Given the description of an element on the screen output the (x, y) to click on. 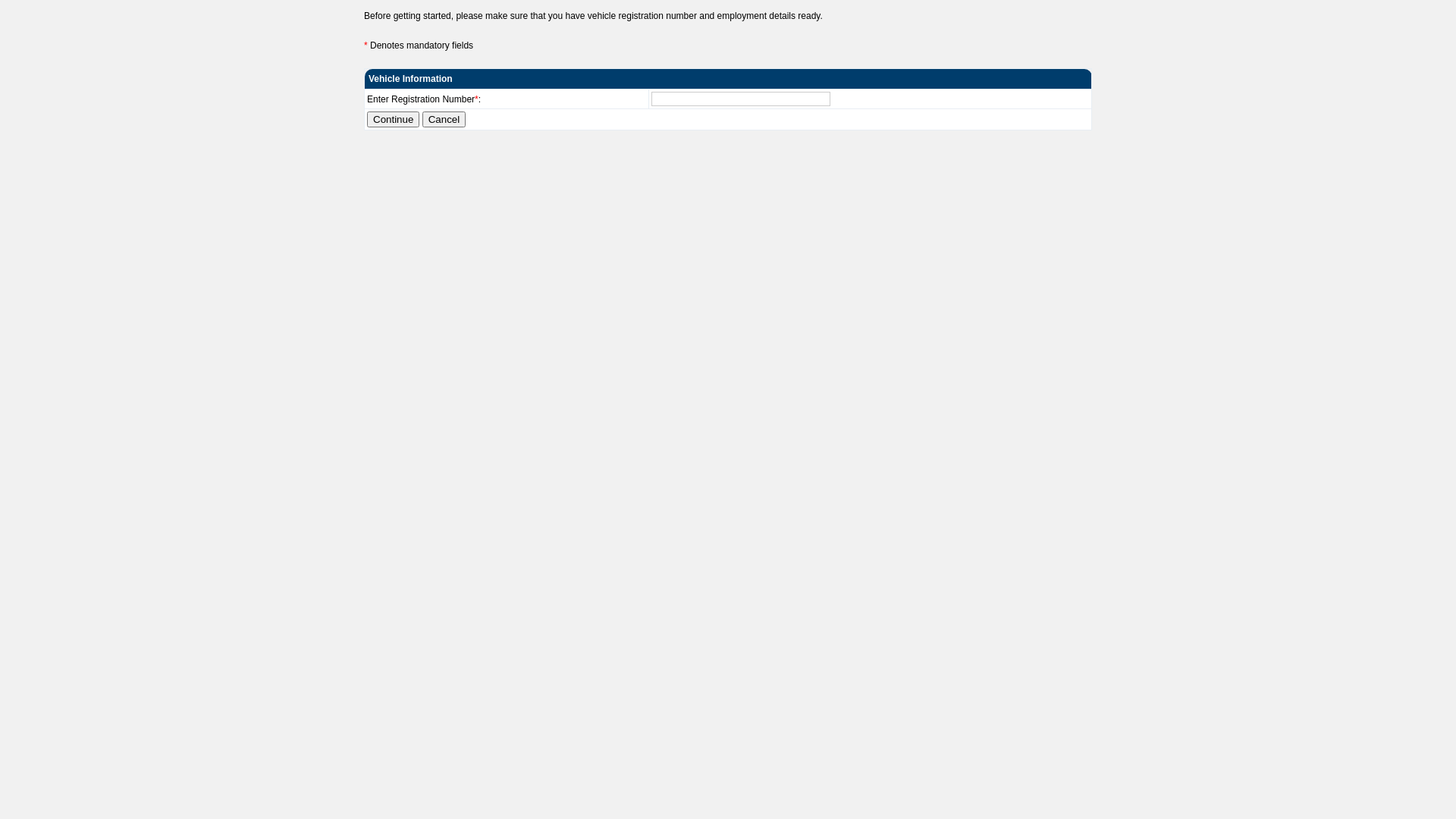
Continue Element type: text (393, 119)
Cancel Element type: text (444, 119)
